Given the description of an element on the screen output the (x, y) to click on. 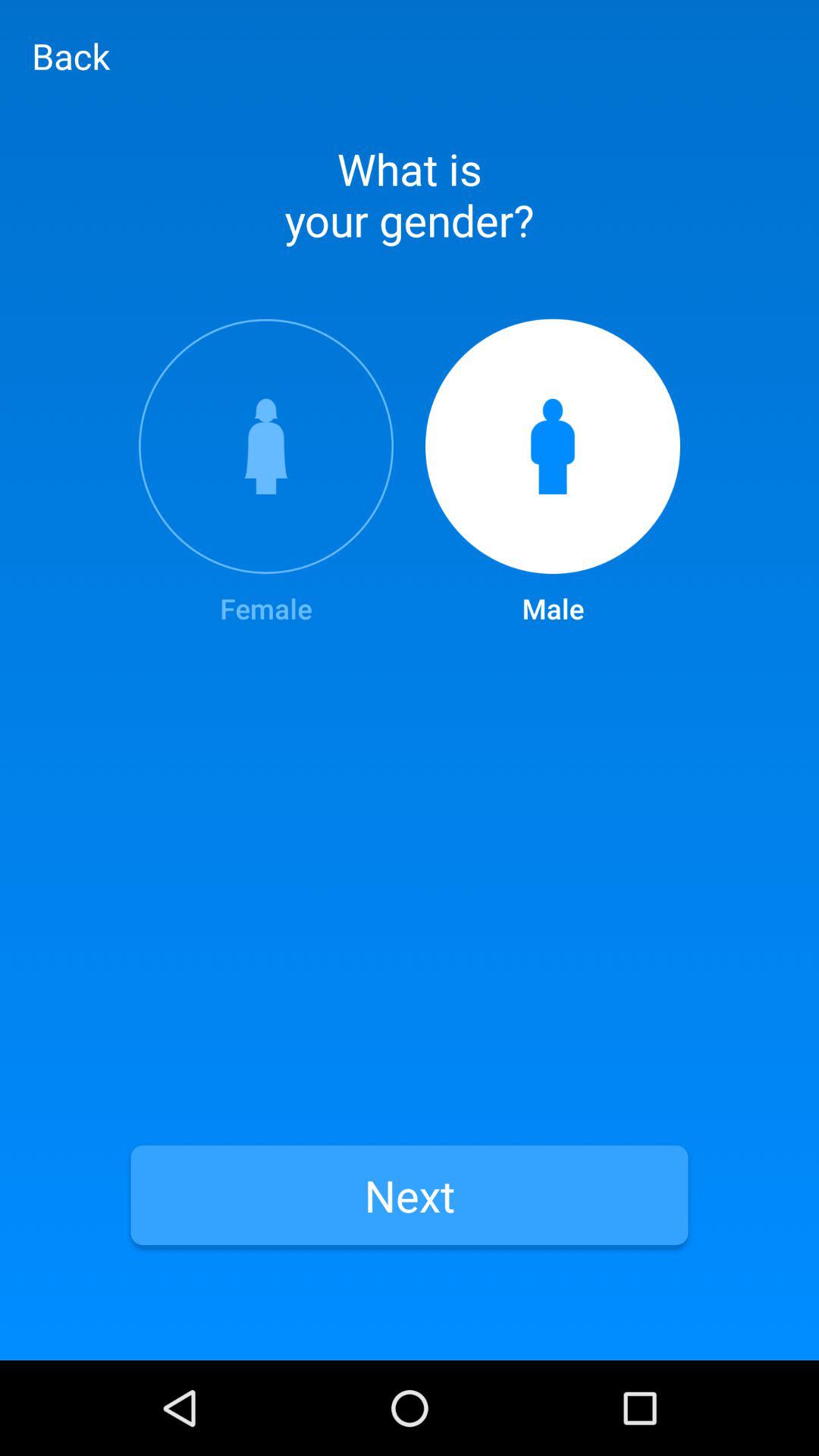
swipe to the male (552, 473)
